Given the description of an element on the screen output the (x, y) to click on. 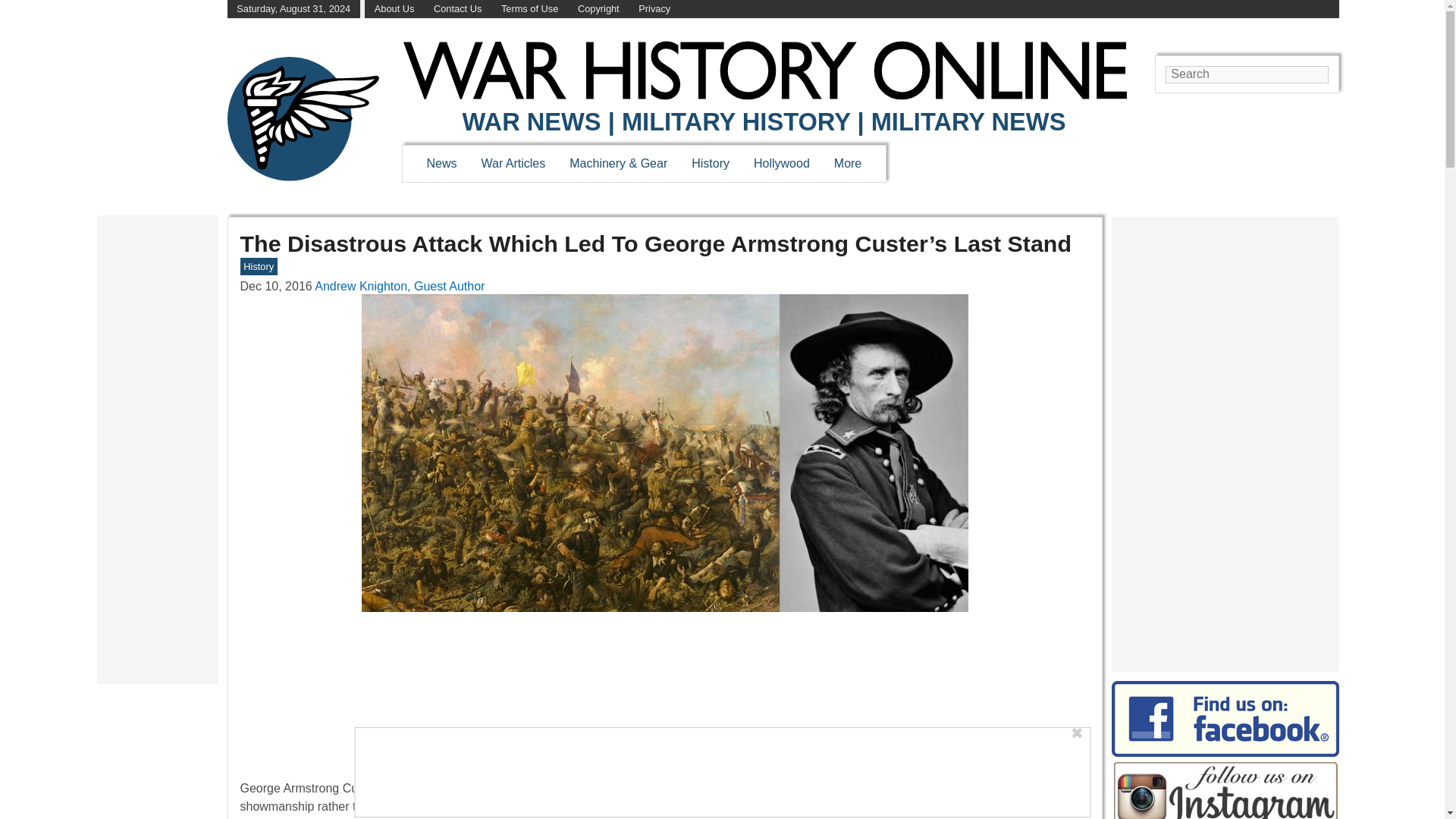
News (441, 163)
Copyright (599, 8)
Privacy (654, 8)
More (847, 163)
Terms of Use (528, 8)
War Articles (513, 163)
History (710, 163)
About Us (394, 8)
Hollywood (781, 163)
Contact Us (457, 8)
